Given the description of an element on the screen output the (x, y) to click on. 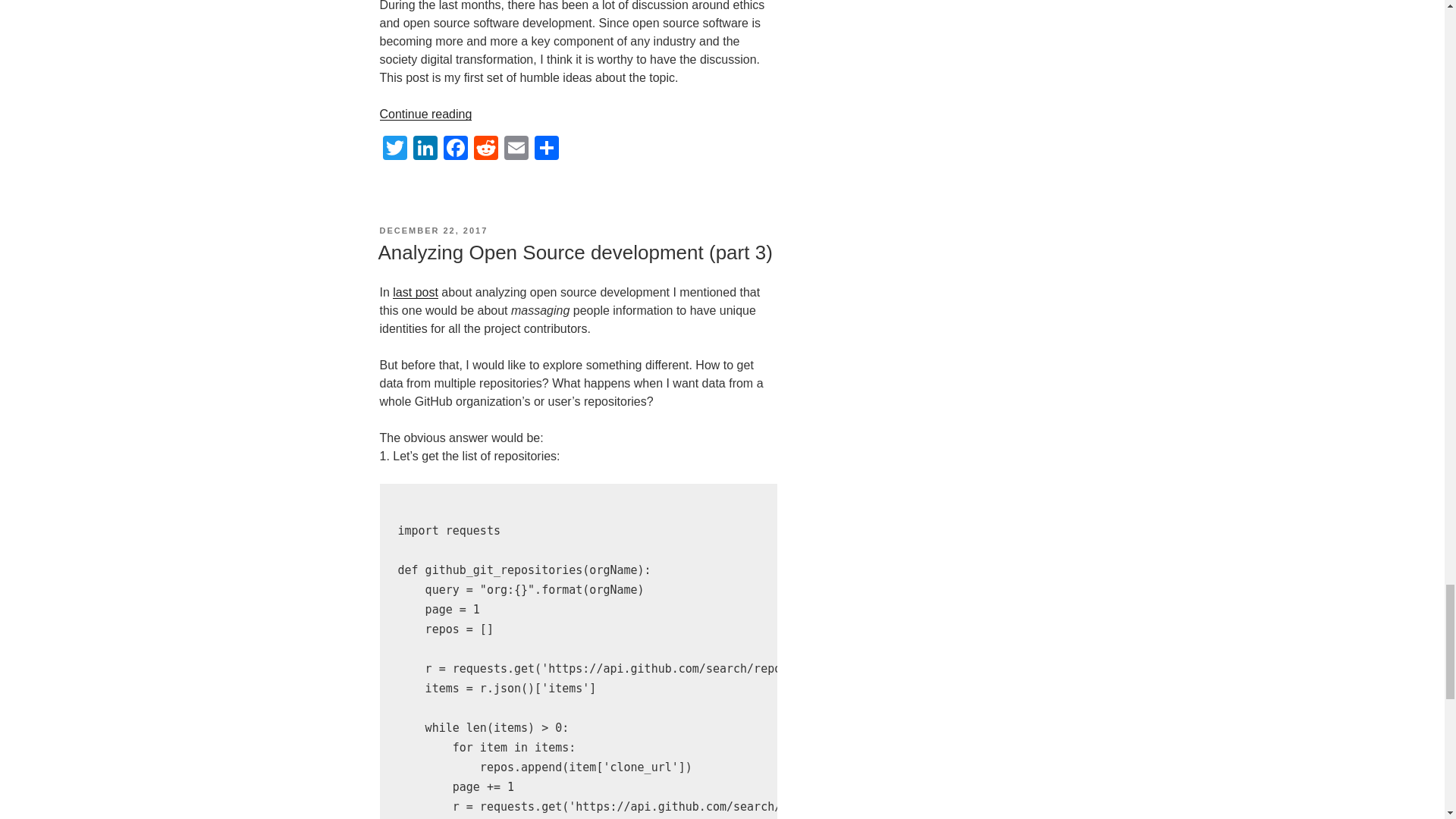
Twitter (393, 149)
